Given the description of an element on the screen output the (x, y) to click on. 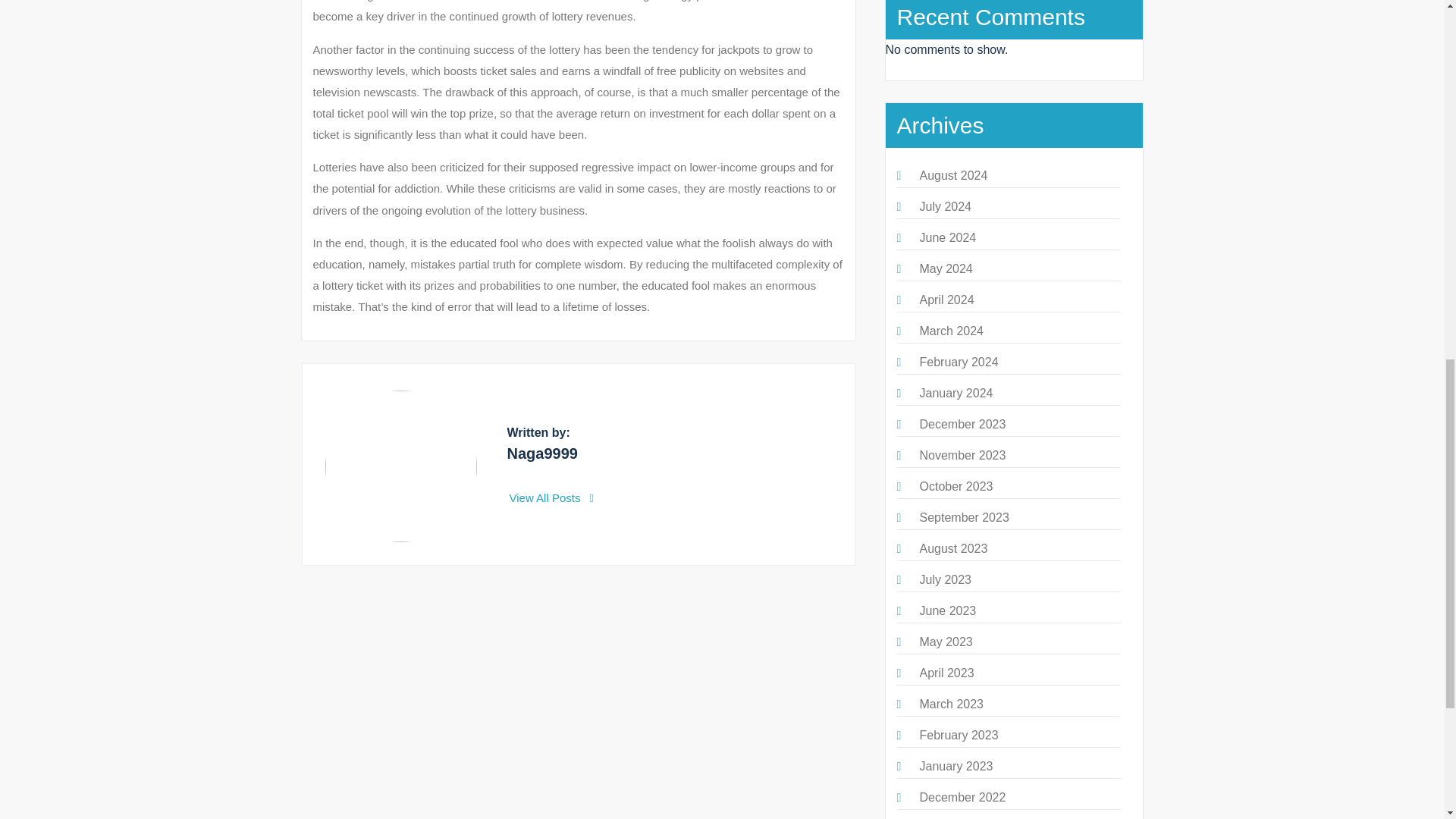
August 2023 (952, 548)
May 2023 (945, 641)
August 2024 (952, 174)
October 2023 (955, 486)
December 2023 (962, 423)
July 2023 (944, 579)
February 2024 (957, 361)
September 2023 (963, 517)
June 2024 (946, 237)
January 2023 (955, 766)
